Given the description of an element on the screen output the (x, y) to click on. 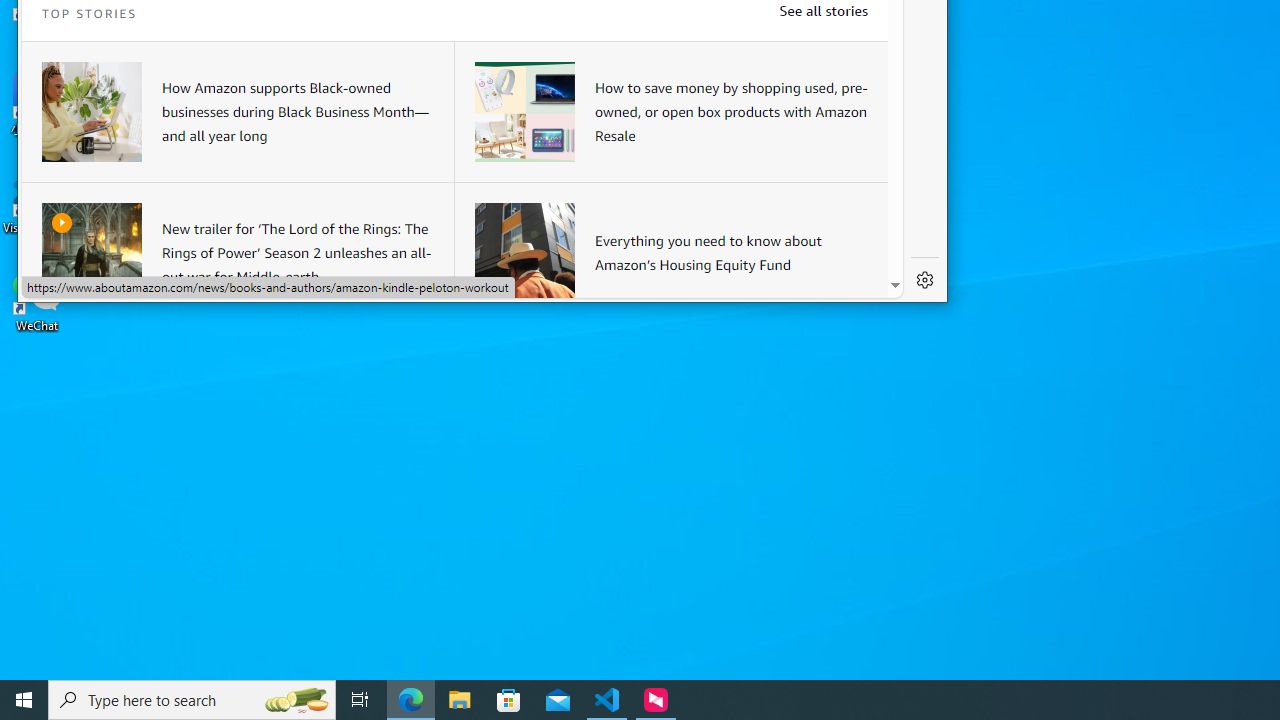
A woman sitting at a desk working on a laptop device. (92, 111)
Search highlights icon opens search home window (295, 699)
A woman sitting at a desk working on a laptop device. (92, 111)
Type here to search (191, 699)
Visual Studio Code - 1 running window (607, 699)
Task View (359, 699)
